Given the description of an element on the screen output the (x, y) to click on. 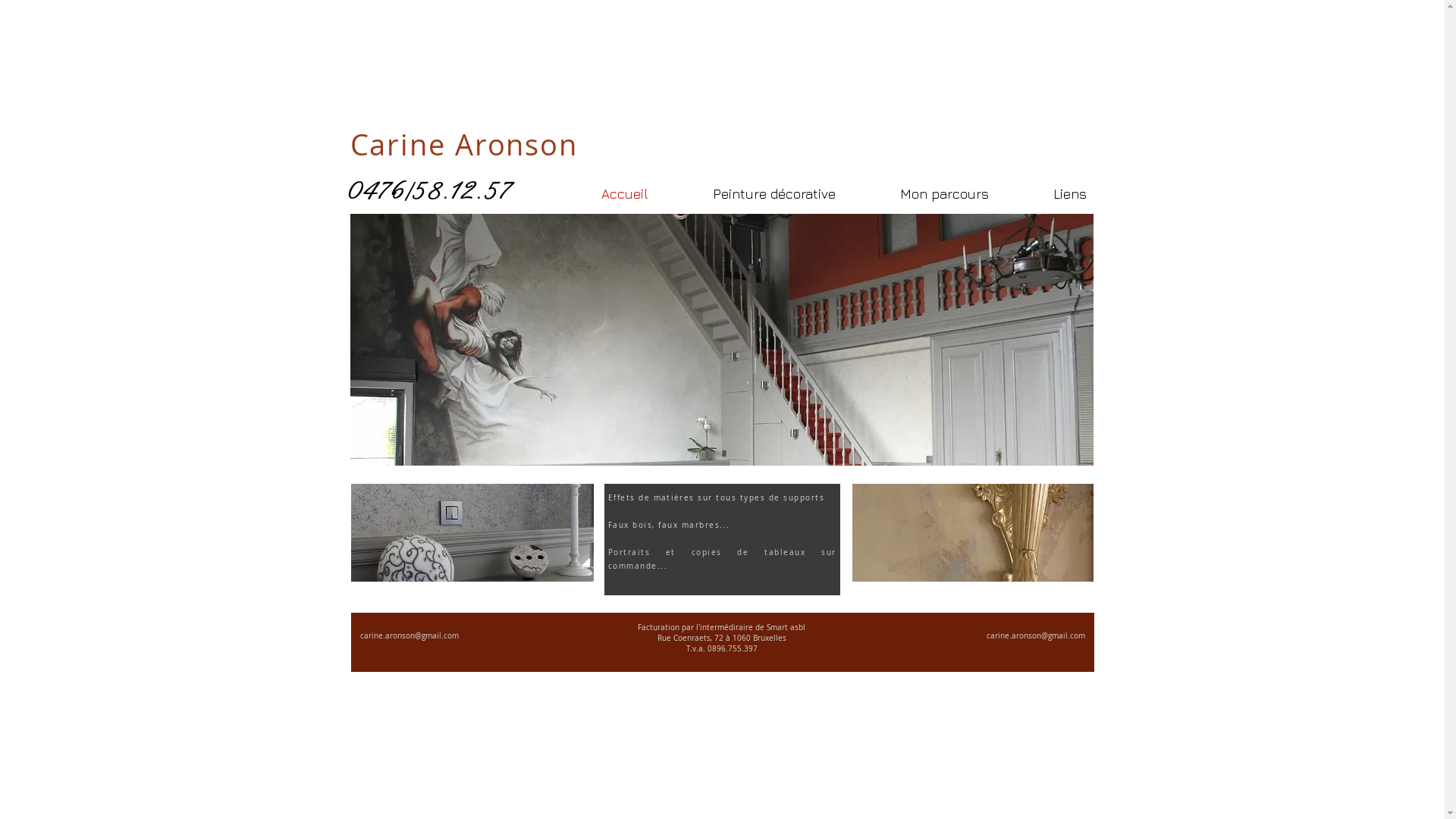
Liens Element type: text (1045, 193)
Mon parcours Element type: text (919, 193)
carine.aronson@gmail.com Element type: text (408, 635)
carine.aronson@gmail.com Element type: text (1034, 635)
Accueil Element type: text (599, 193)
IMG_0098.jpg Element type: hover (471, 532)
